Given the description of an element on the screen output the (x, y) to click on. 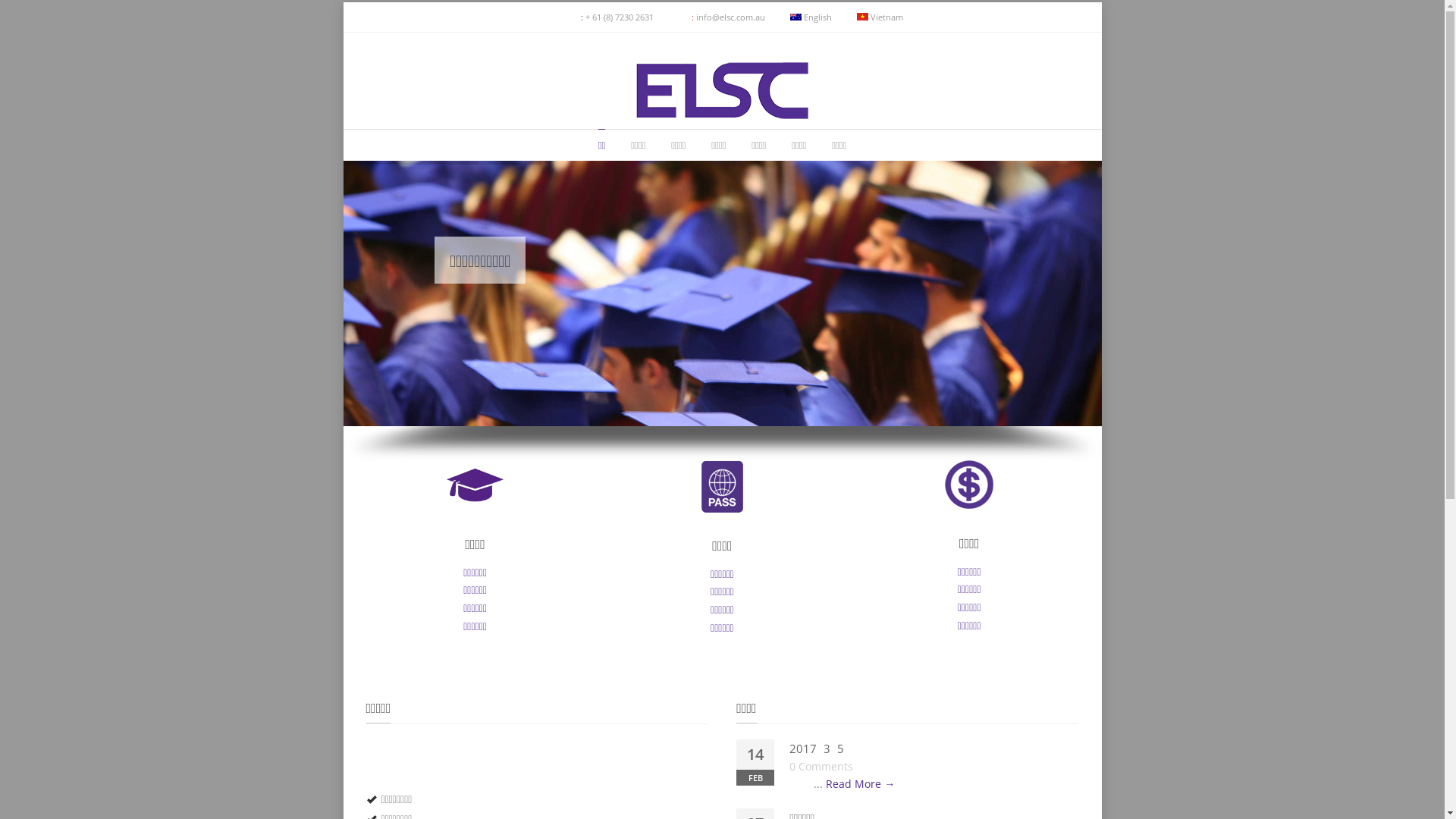
info@elsc.com.au Element type: text (730, 16)
Vietnam Element type: text (879, 16)
English Element type: text (810, 16)
